Given the description of an element on the screen output the (x, y) to click on. 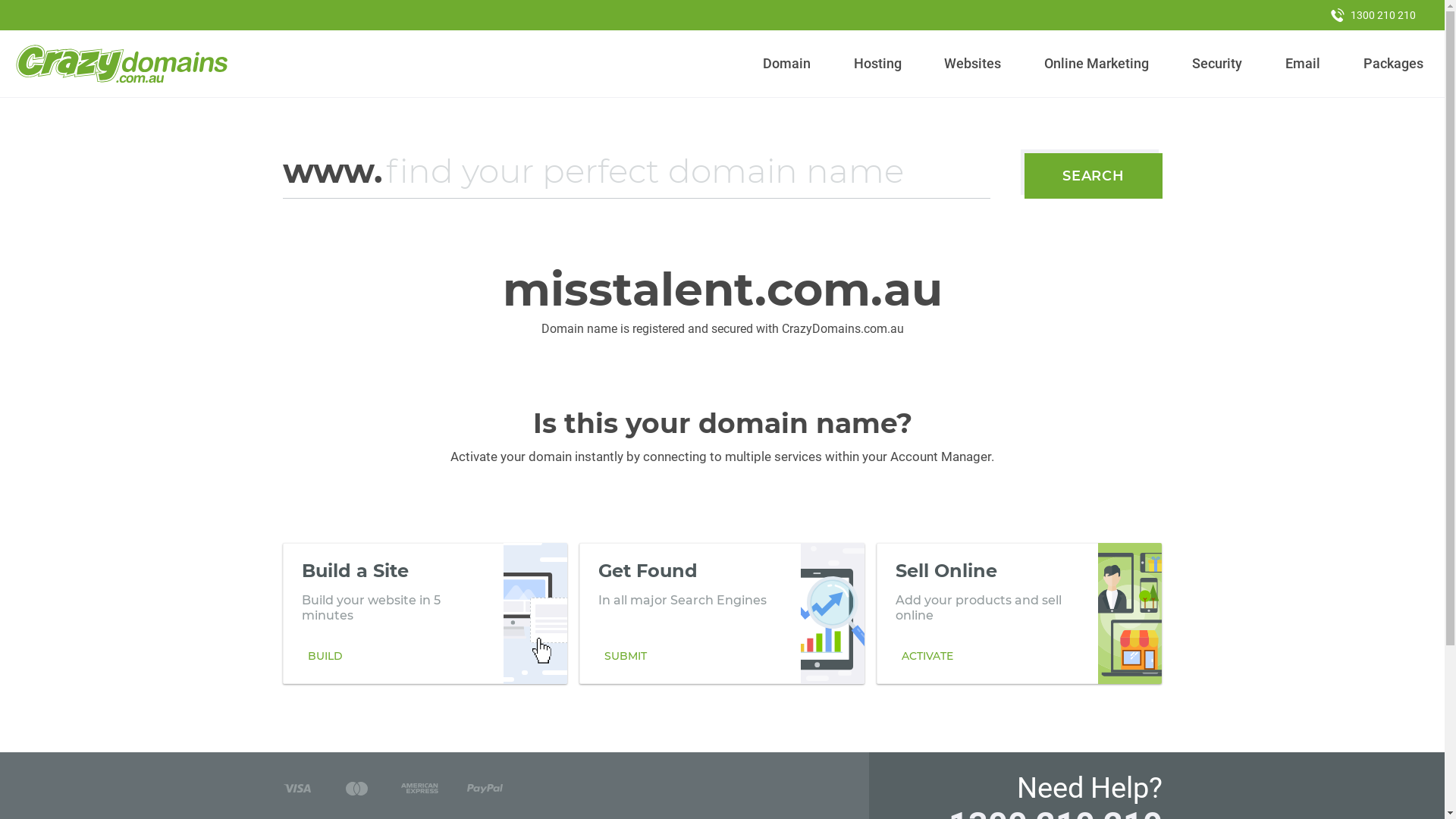
Email Element type: text (1302, 63)
Build a Site
Build your website in 5 minutes
BUILD Element type: text (424, 613)
Security Element type: text (1217, 63)
Hosting Element type: text (877, 63)
Sell Online
Add your products and sell online
ACTIVATE Element type: text (1018, 613)
Get Found
In all major Search Engines
SUBMIT Element type: text (721, 613)
Domain Element type: text (786, 63)
Online Marketing Element type: text (1096, 63)
Packages Element type: text (1392, 63)
SEARCH Element type: text (1092, 175)
Websites Element type: text (972, 63)
1300 210 210 Element type: text (1373, 15)
